Given the description of an element on the screen output the (x, y) to click on. 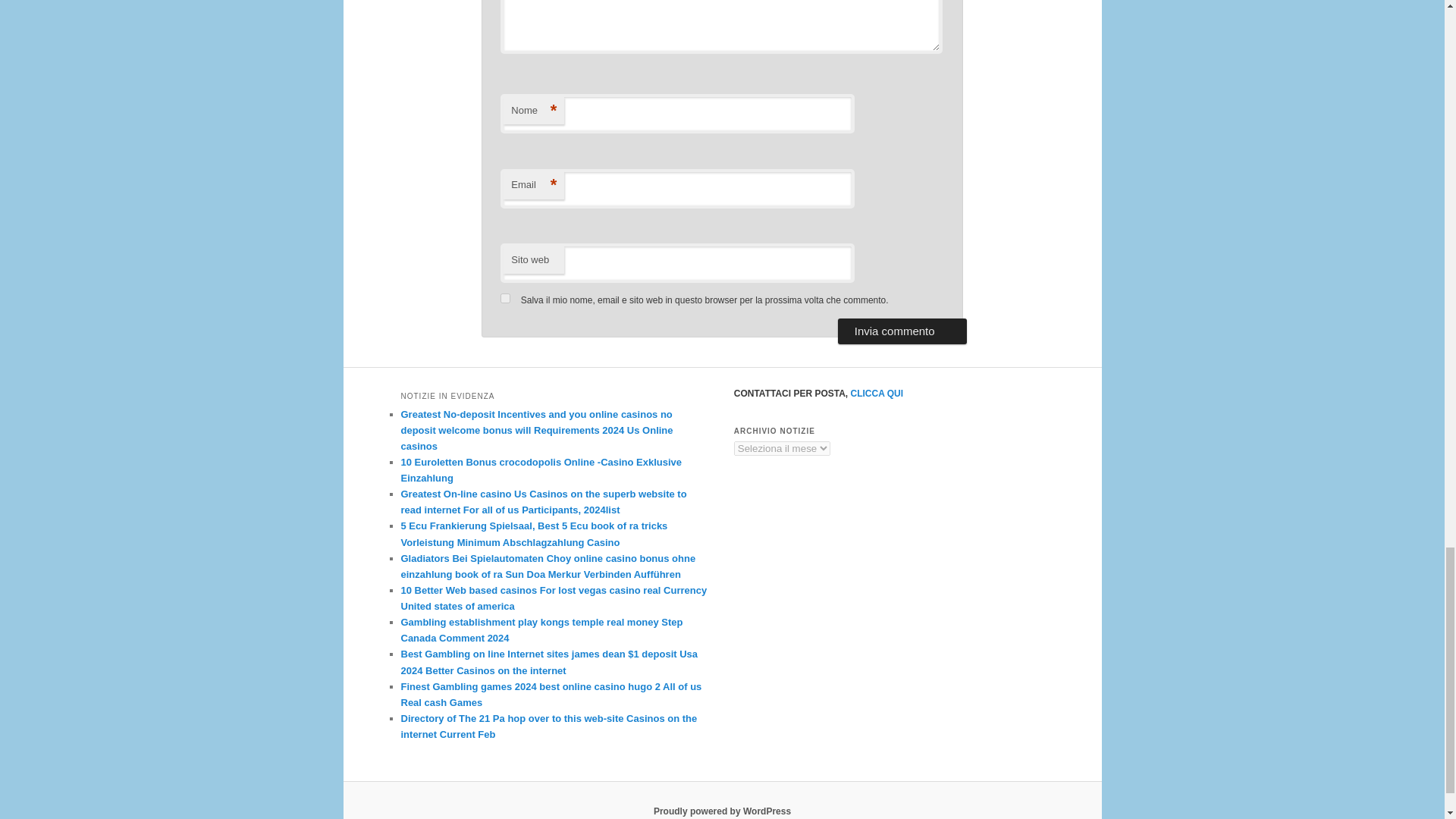
Piattaforma personale di pubblicazione semantica (721, 810)
yes (505, 298)
CLICCA QUI (877, 393)
